Given the description of an element on the screen output the (x, y) to click on. 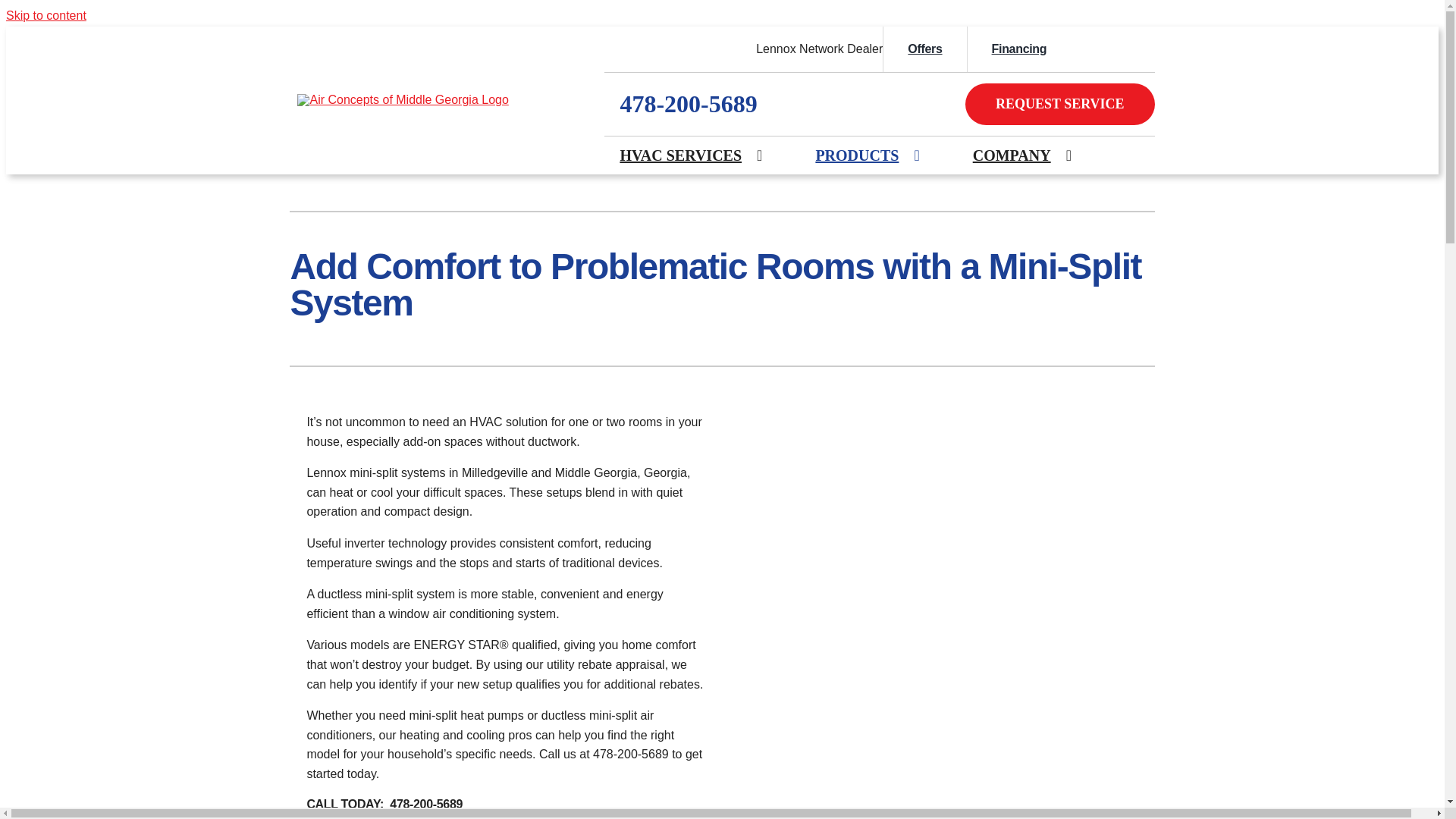
REQUEST SERVICE (1059, 104)
Skip to content (45, 15)
HVAC SERVICES (680, 155)
Financing (1018, 49)
COMPANY (1011, 155)
PRODUCTS (856, 155)
Offers (924, 49)
